Given the description of an element on the screen output the (x, y) to click on. 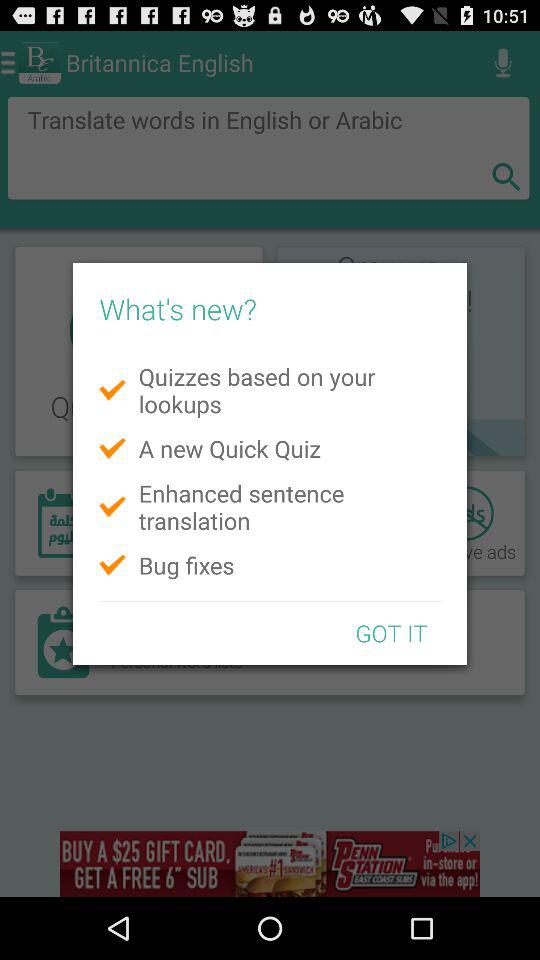
flip until the got it (391, 632)
